Given the description of an element on the screen output the (x, y) to click on. 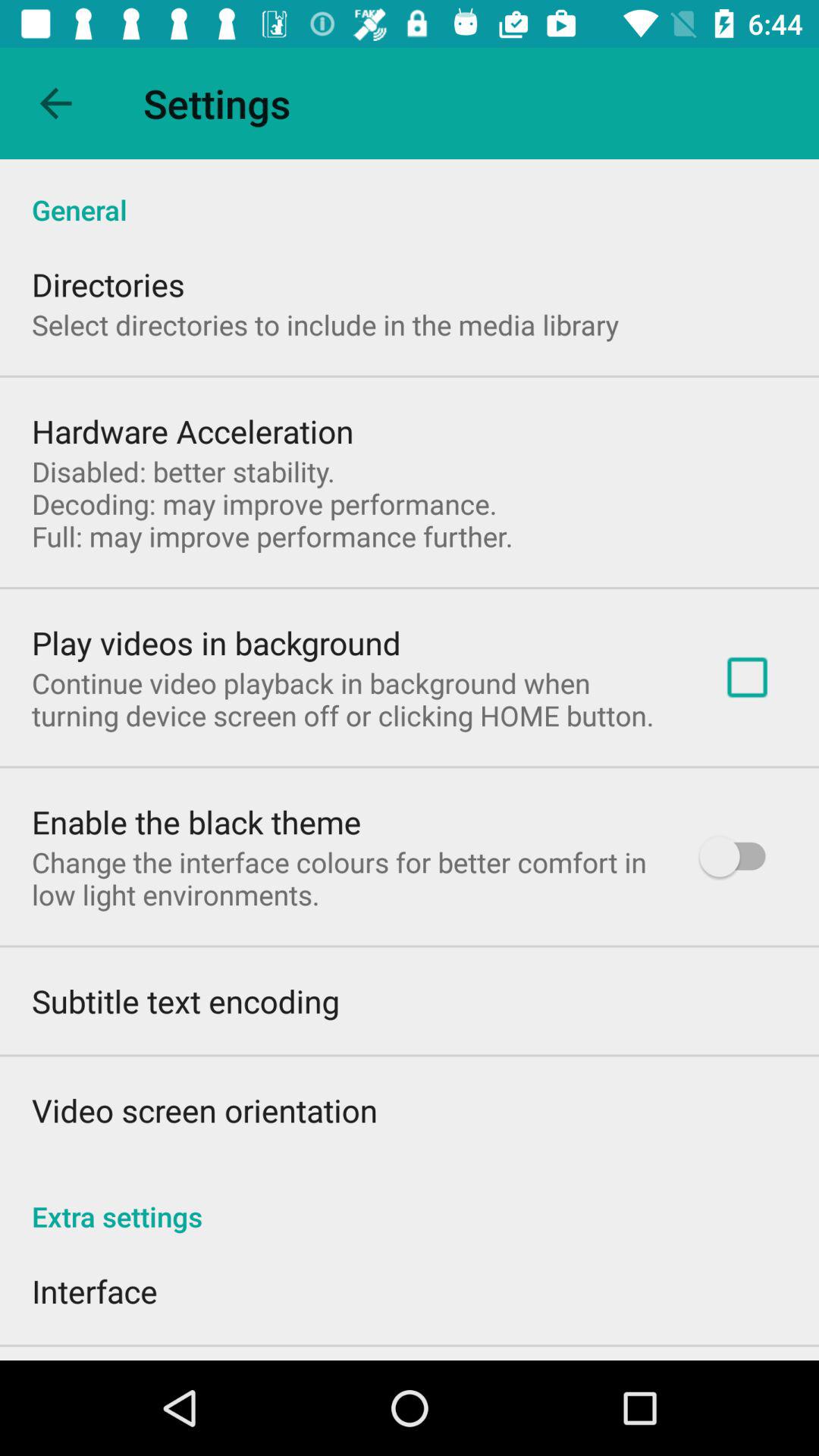
select item below general item (747, 677)
